Given the description of an element on the screen output the (x, y) to click on. 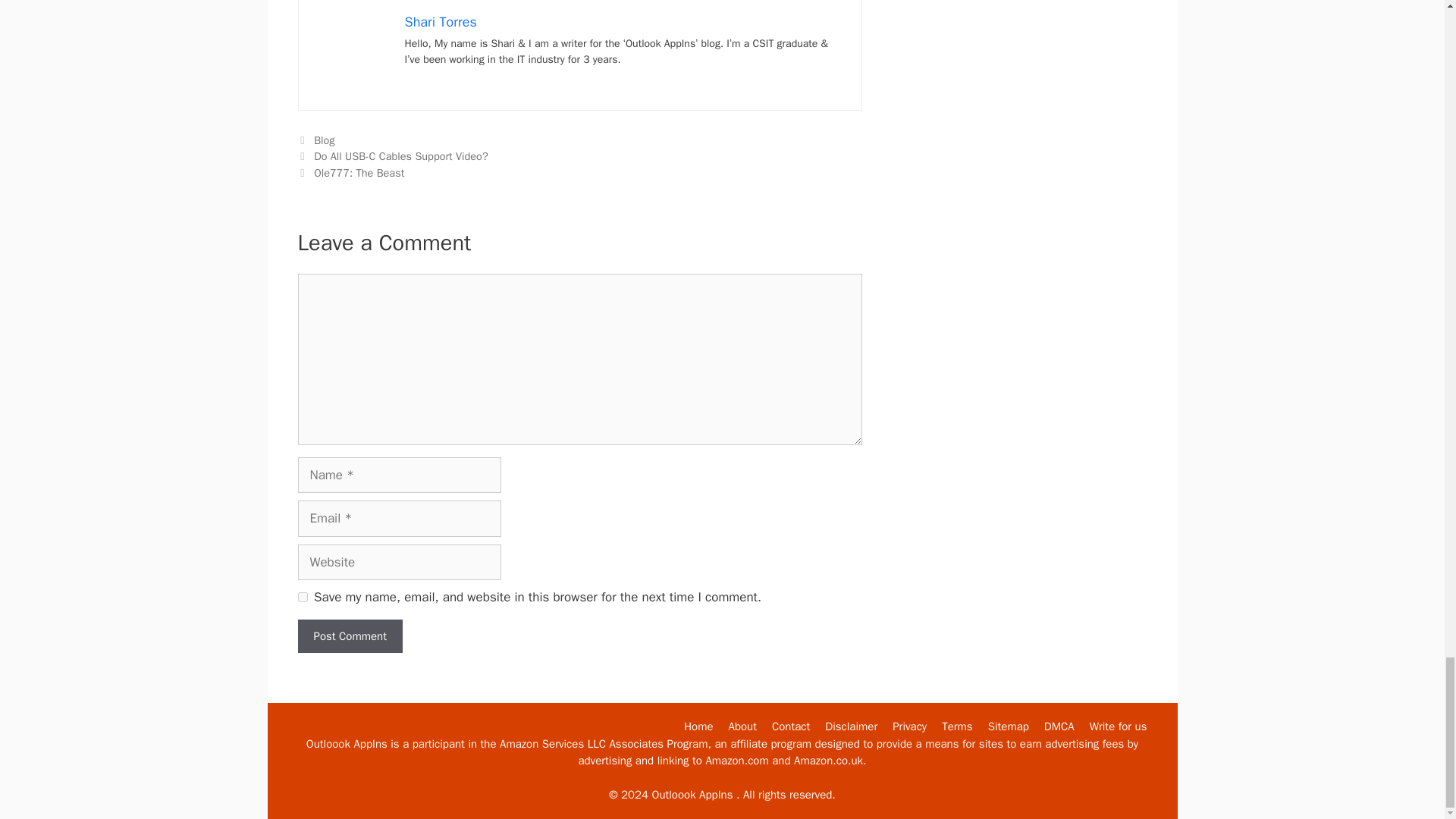
Post Comment (349, 636)
Sitemap (1008, 726)
Privacy (909, 726)
DMCA Takedown (1058, 726)
Outlook AppIns (698, 726)
Contact (790, 726)
Disclaimer (851, 726)
yes (302, 596)
About (743, 726)
